Given the description of an element on the screen output the (x, y) to click on. 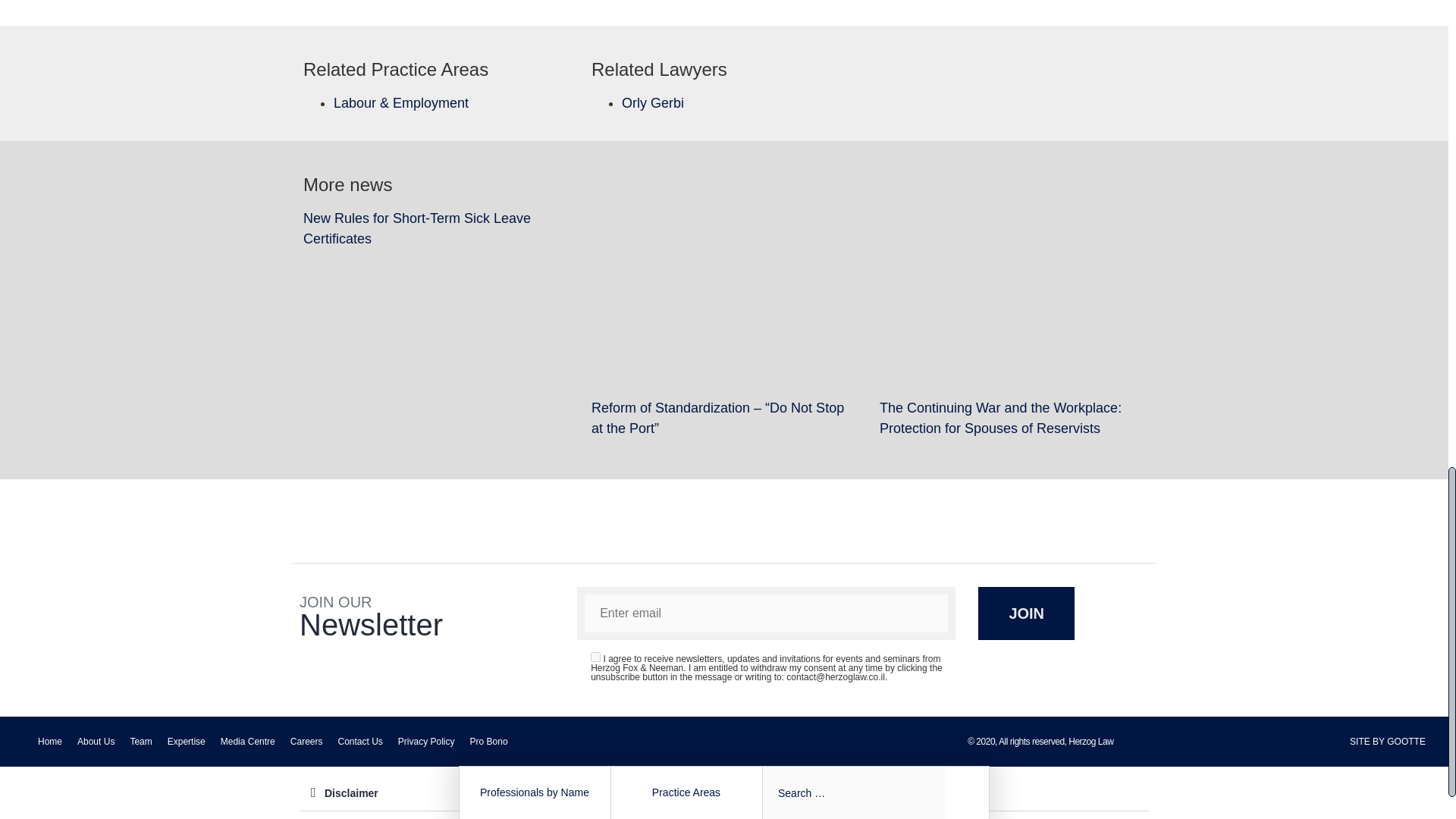
Join (1026, 613)
